Given the description of an element on the screen output the (x, y) to click on. 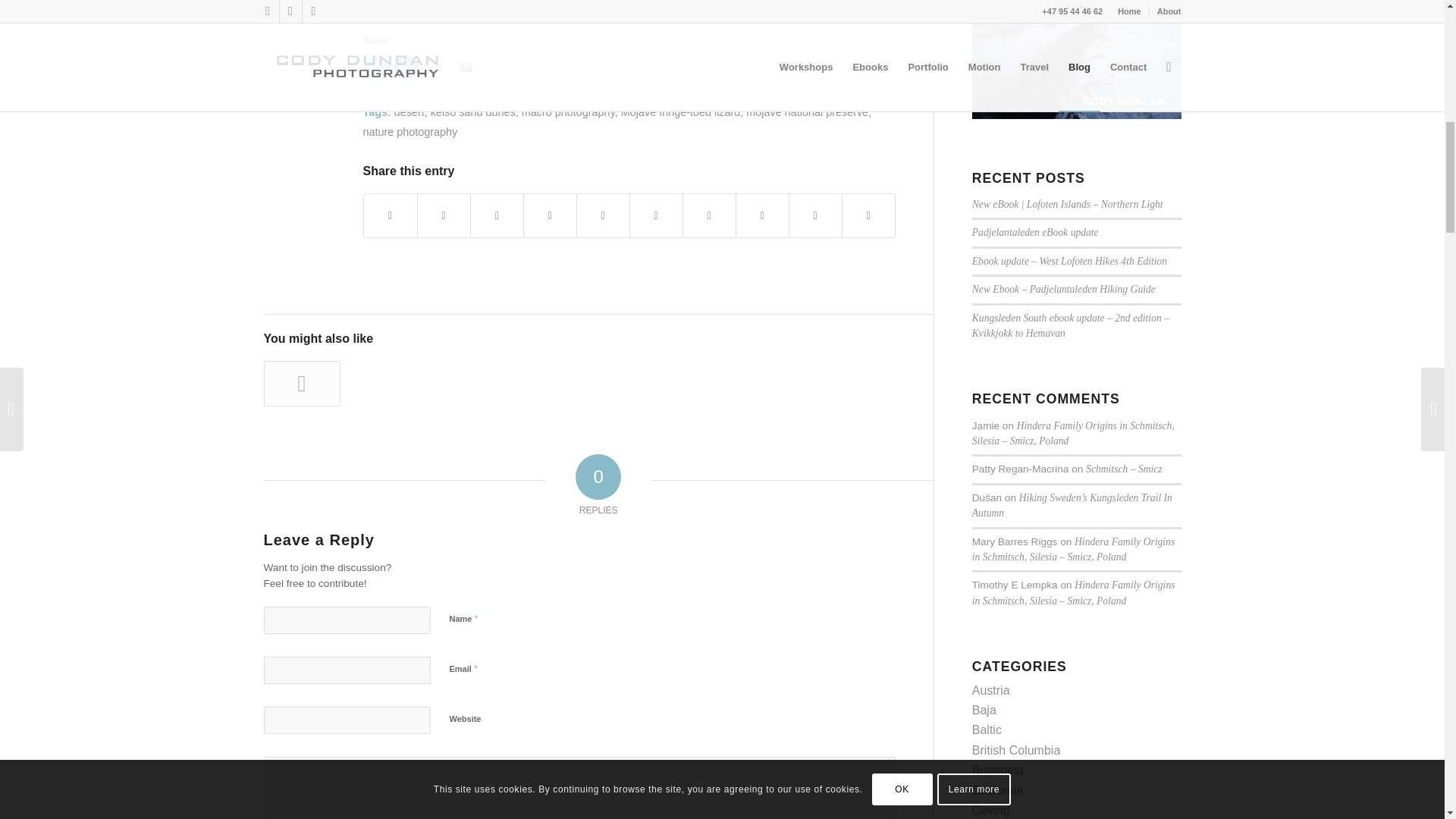
desert (409, 111)
Click to share on Reddit (434, 67)
Click to email a link to a friend (464, 67)
macro photography (567, 111)
Click to share on Twitter (374, 67)
Click to share on Facebook (404, 67)
kelso sand dunes (472, 111)
